Given the description of an element on the screen output the (x, y) to click on. 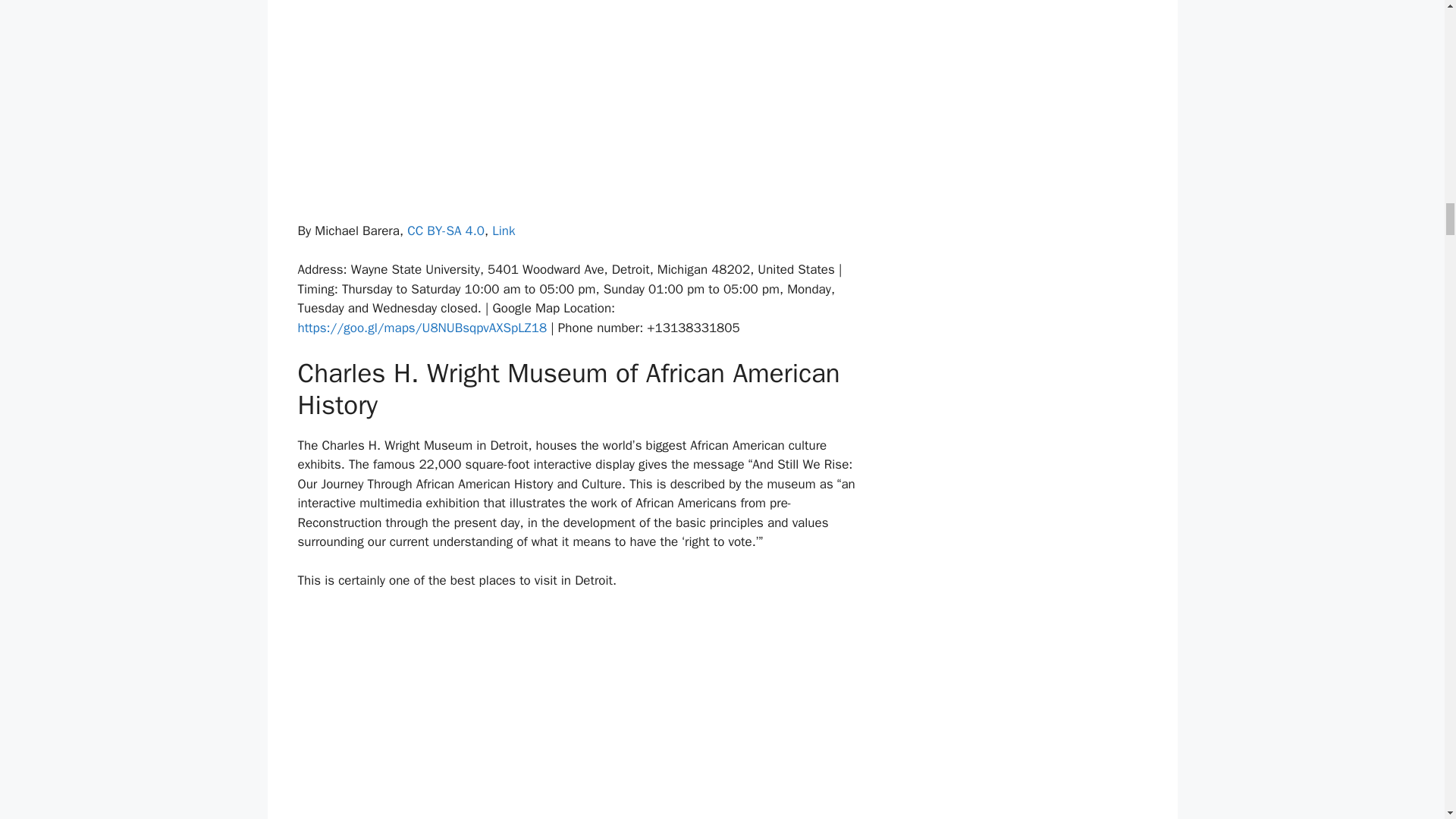
Creative Commons Attribution-Share Alike 4.0 (445, 230)
